Given the description of an element on the screen output the (x, y) to click on. 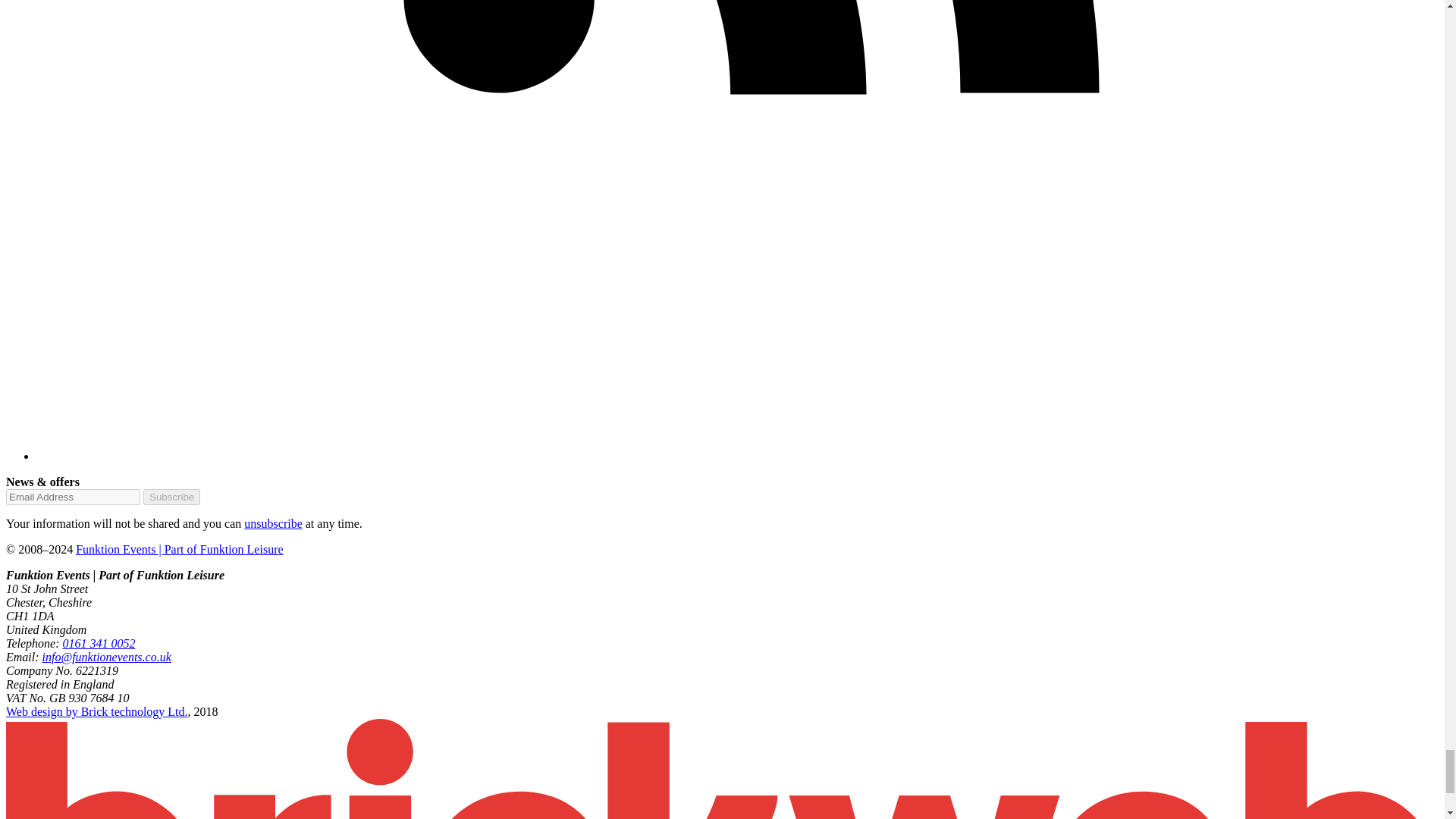
Subscribe (171, 496)
